Given the description of an element on the screen output the (x, y) to click on. 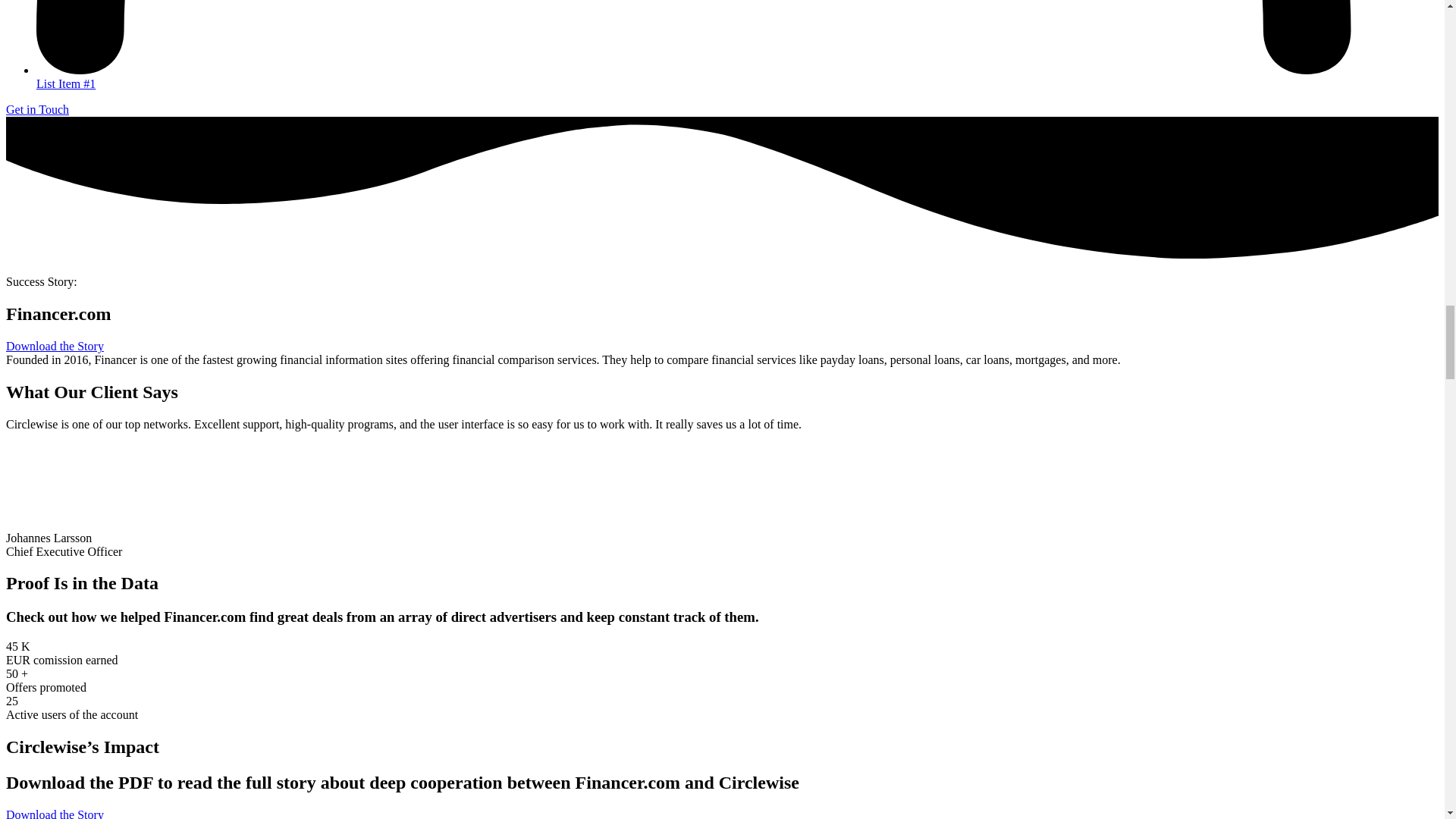
Get in Touch (36, 109)
Download the Story (54, 345)
Download the Story (54, 813)
